Given the description of an element on the screen output the (x, y) to click on. 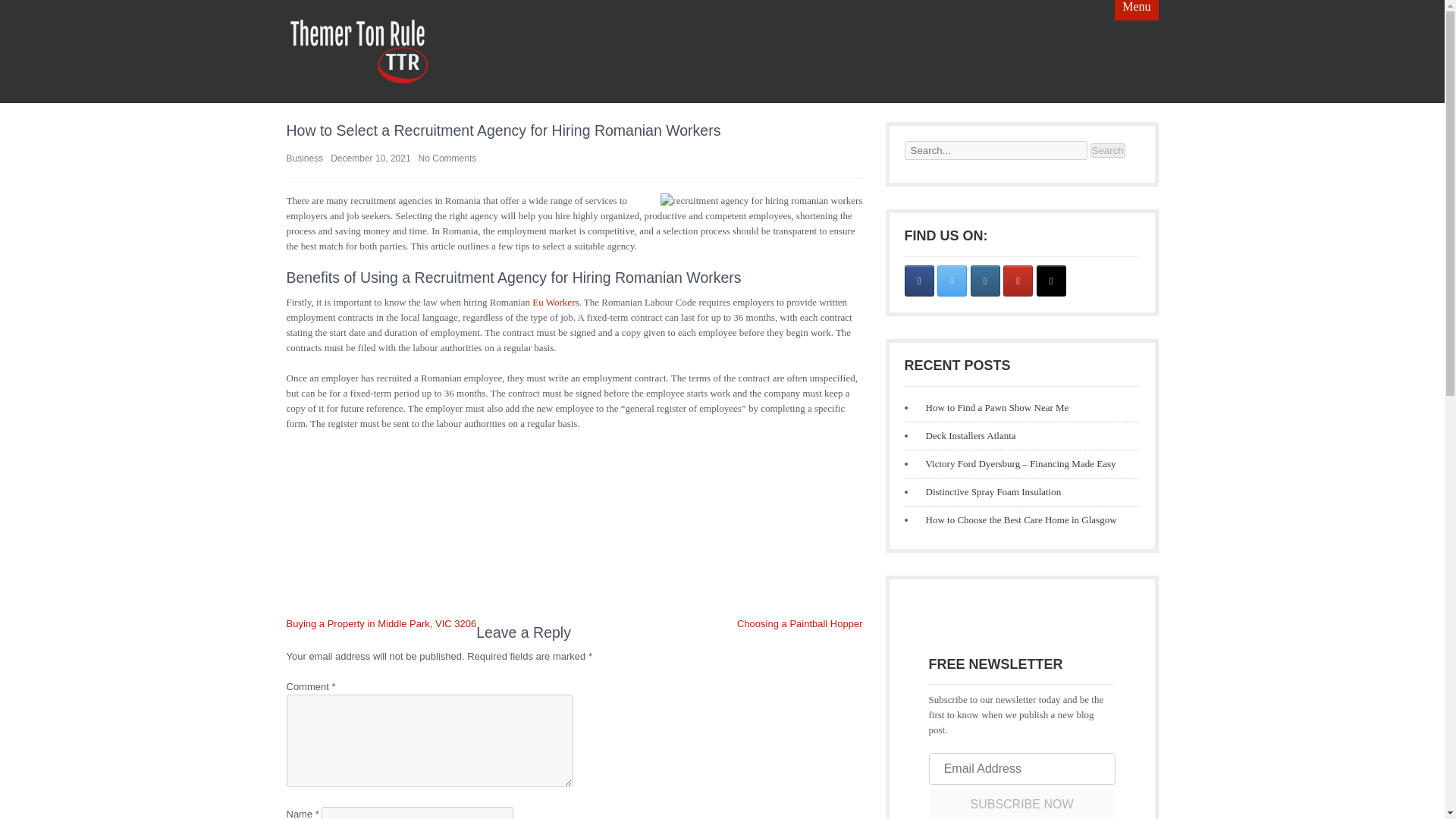
Business (304, 158)
Deck Installers Atlanta (965, 435)
Search (1107, 150)
Eu Workers (555, 301)
Themer Ton Rule (545, 97)
How to Find a Pawn Show Near Me (992, 407)
Choosing a Paintball Hopper (799, 623)
Themer Ton Rule on Tiktok (1050, 280)
Themer Ton Rule on Facebook (918, 280)
SUBSCRIBE NOW (1021, 803)
Menu (1136, 10)
No Comments (448, 158)
Search (1107, 150)
Distinctive Spray Foam Insulation (989, 491)
SUBSCRIBE NOW (1021, 803)
